Given the description of an element on the screen output the (x, y) to click on. 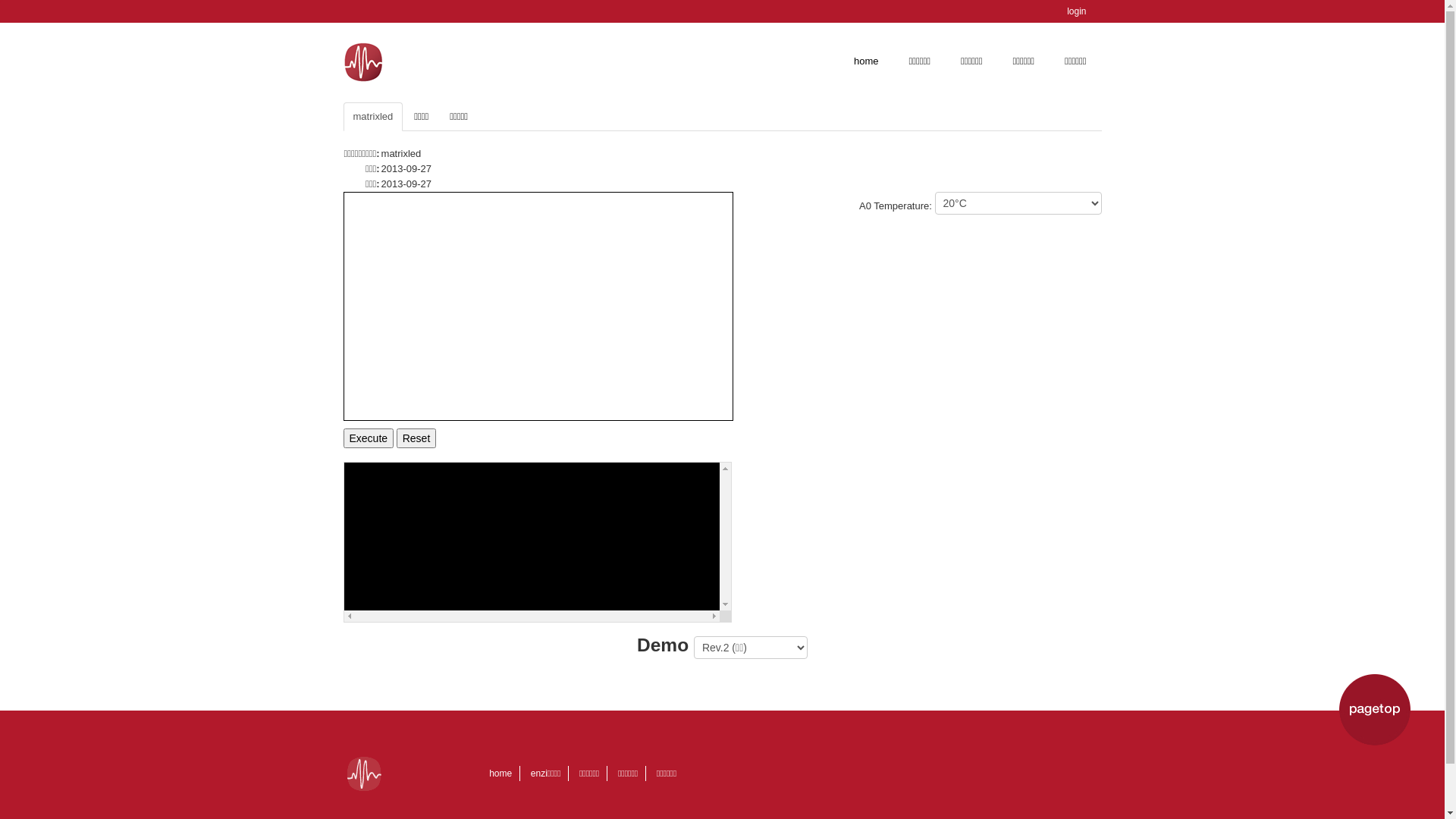
home Element type: text (865, 61)
Execute Element type: text (367, 438)
Reset Element type: text (416, 438)
matrixled Element type: text (372, 116)
home Element type: text (500, 773)
login Element type: text (1075, 10)
